Given the description of an element on the screen output the (x, y) to click on. 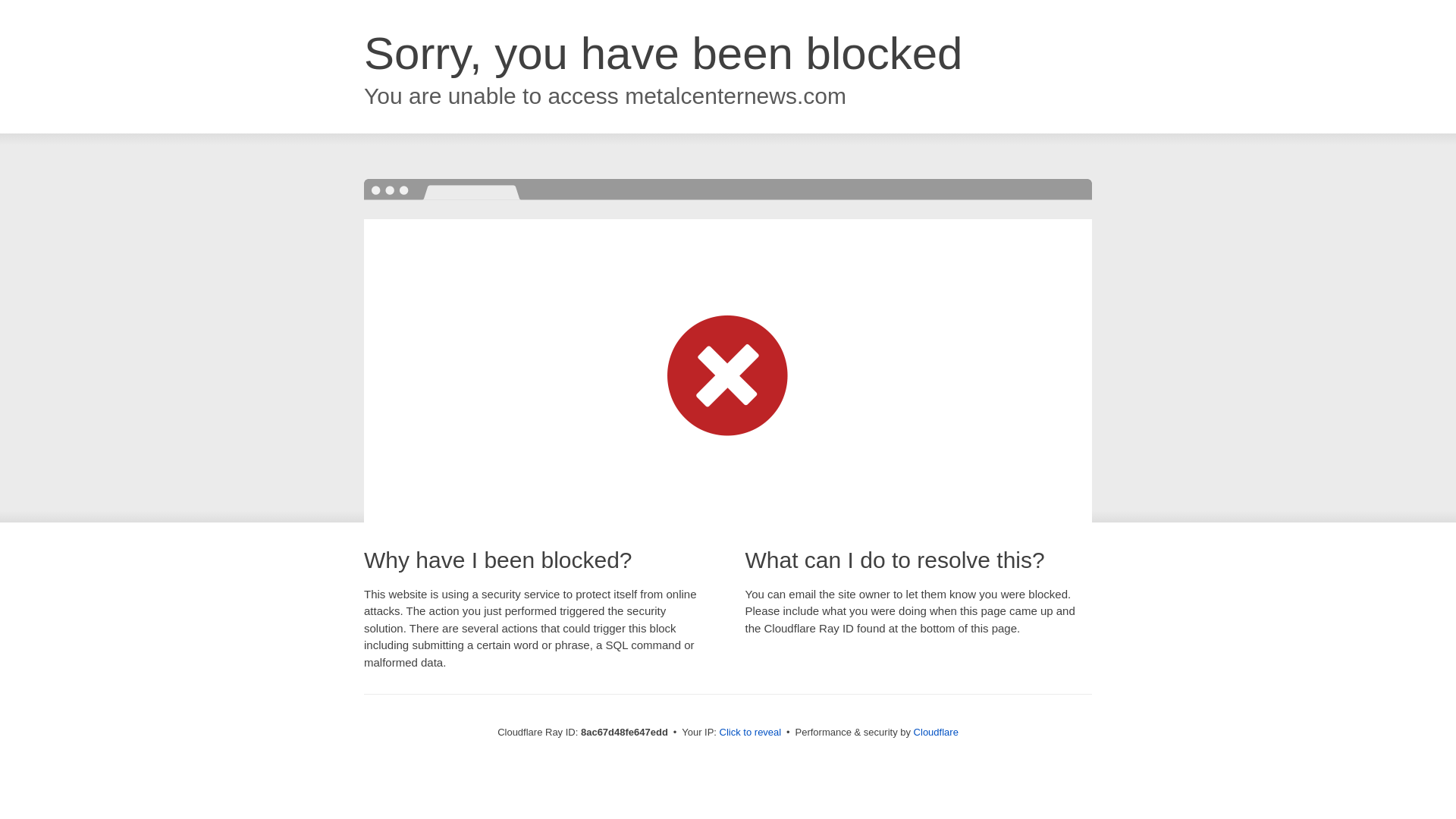
Cloudflare (936, 731)
Click to reveal (750, 732)
